Given the description of an element on the screen output the (x, y) to click on. 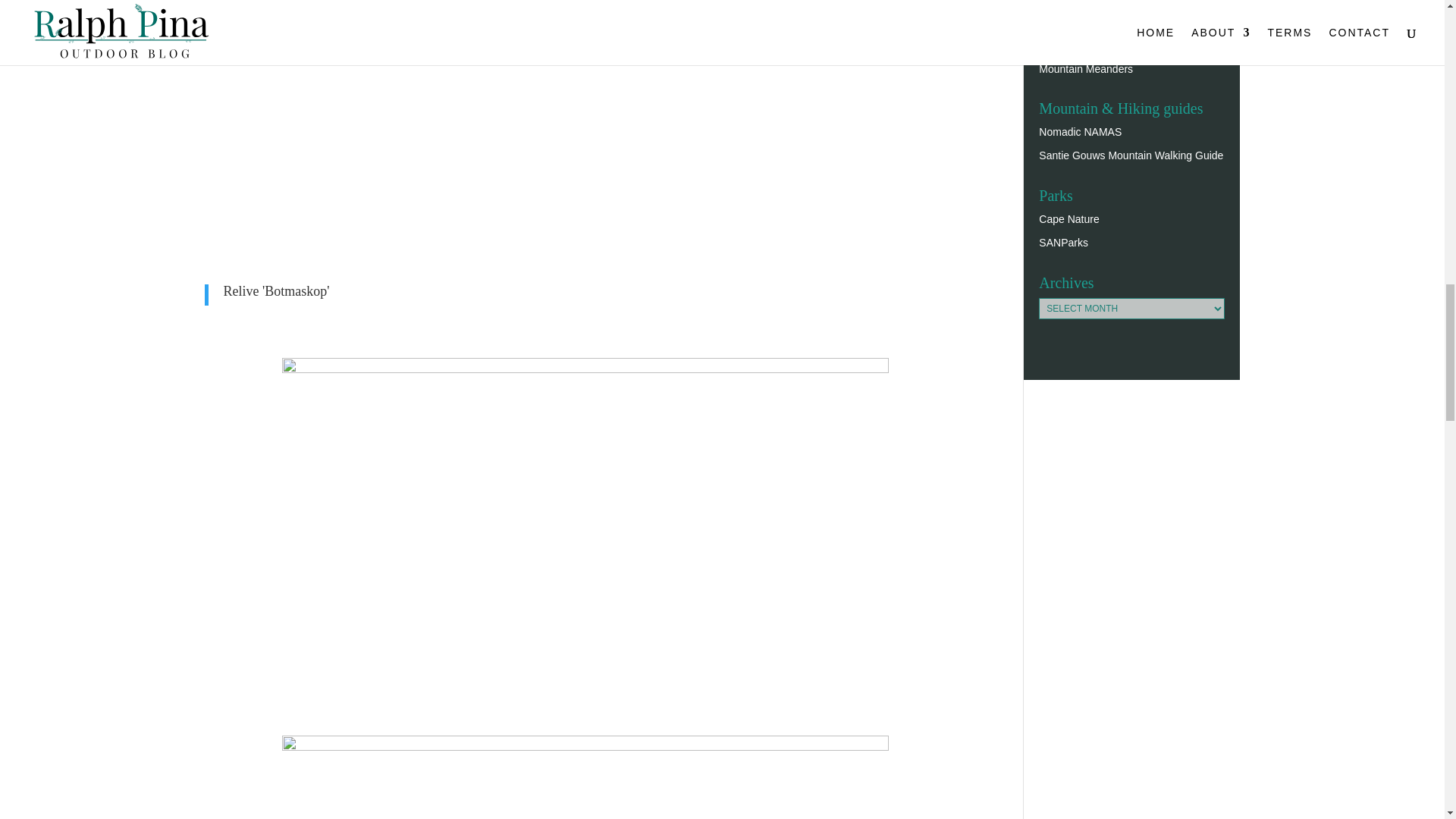
Relive 'Botmaskop' (275, 290)
